Given the description of an element on the screen output the (x, y) to click on. 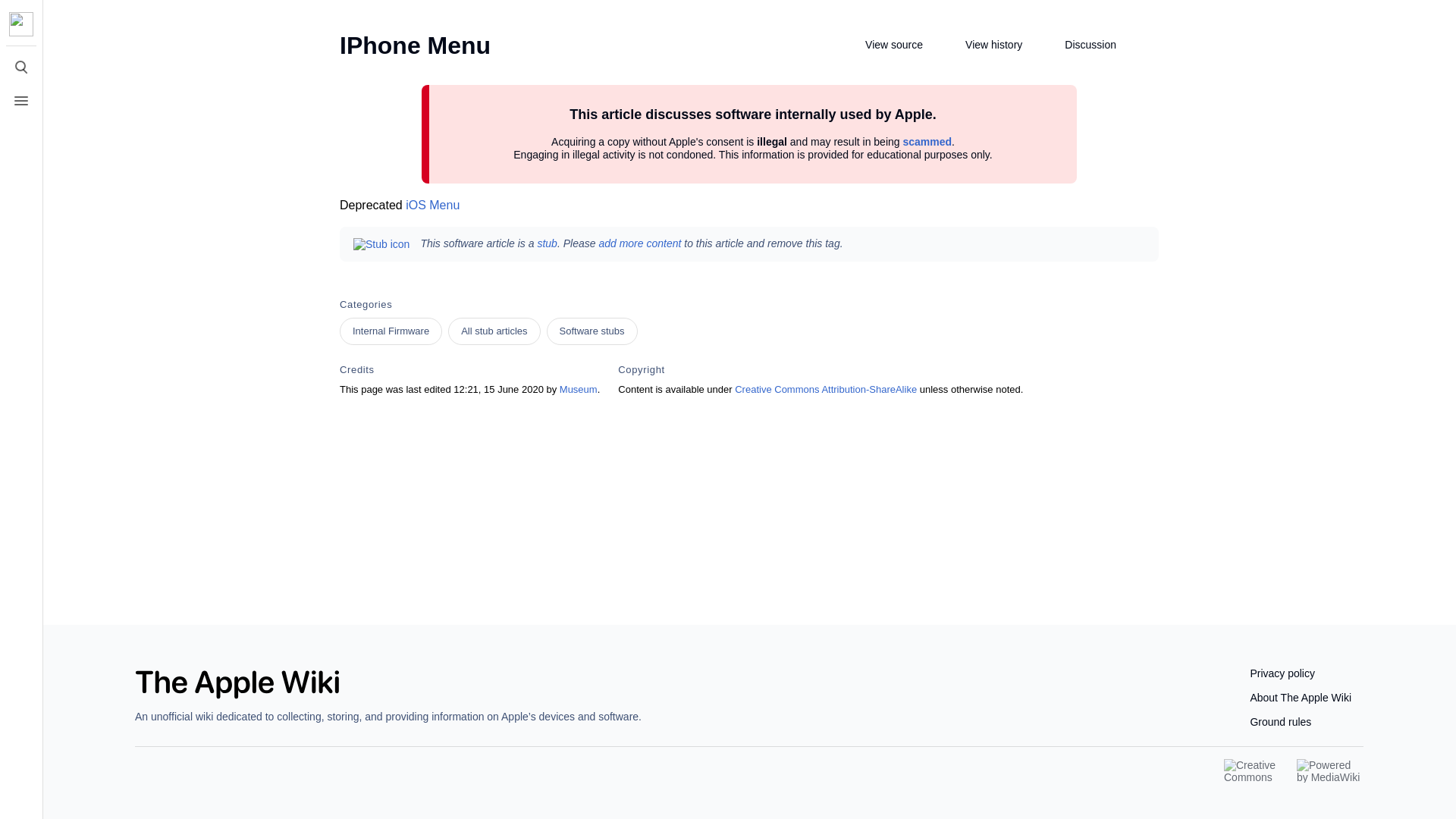
Toggle menu (20, 100)
View history (982, 44)
Discussion (1079, 44)
Visit the main page (20, 24)
stub (546, 243)
View source (882, 44)
scammed (927, 141)
iOS Menu (433, 205)
add more content (639, 243)
